Given the description of an element on the screen output the (x, y) to click on. 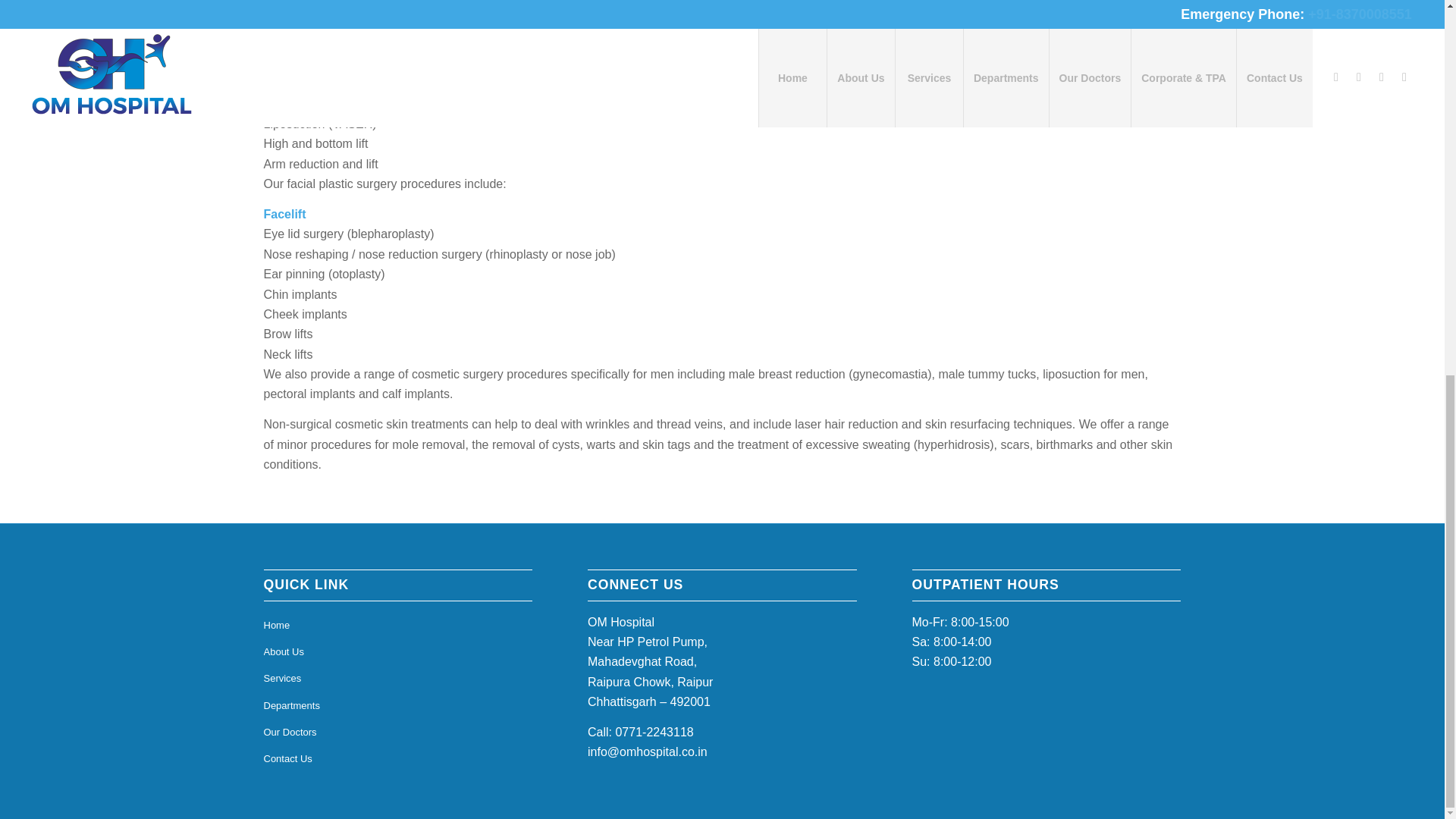
Departments (397, 705)
Contact Us (397, 759)
Home (397, 625)
Our Doctors (397, 732)
Services (397, 678)
About Us (397, 652)
